Given the description of an element on the screen output the (x, y) to click on. 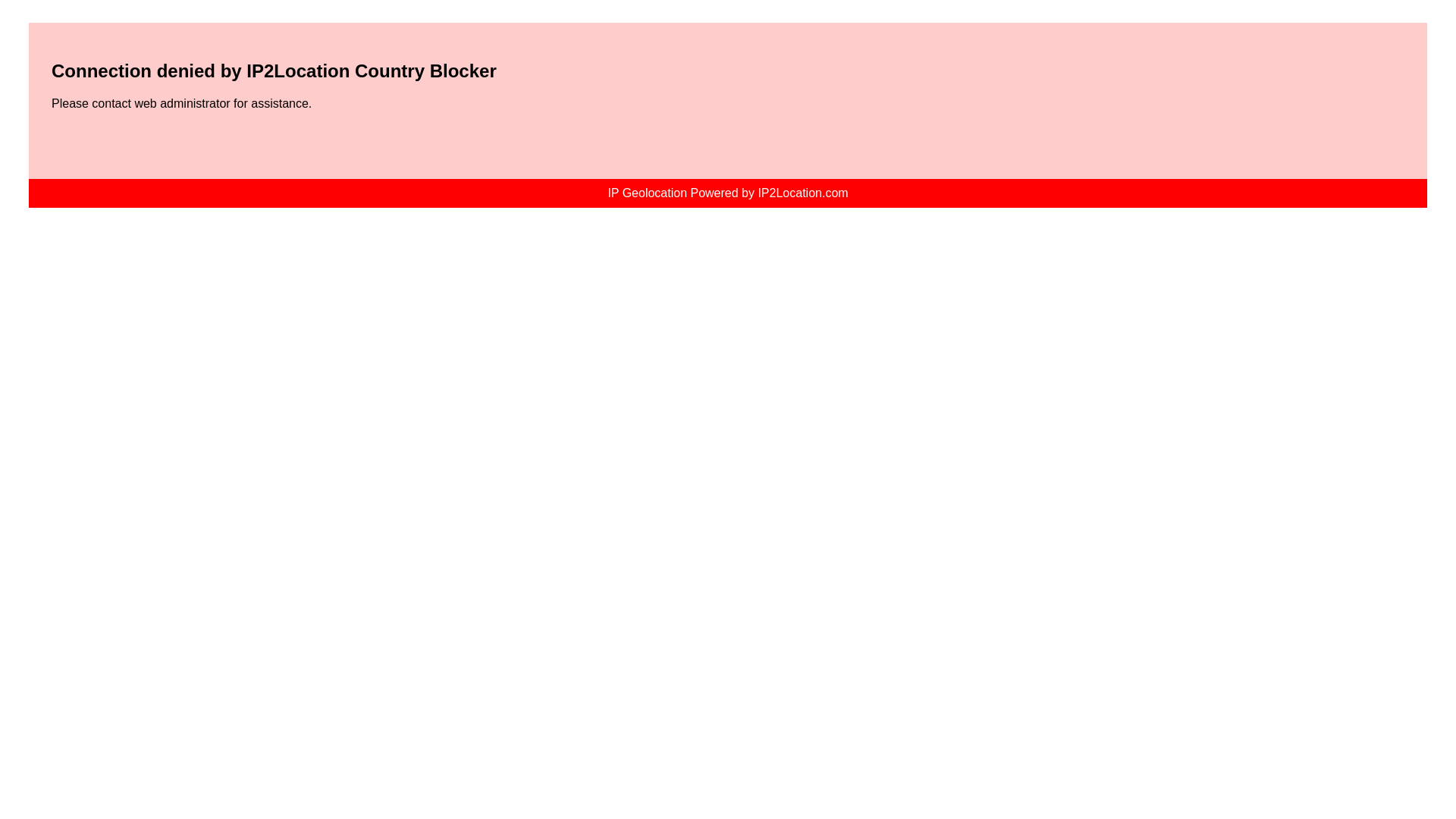
IP Geolocation Powered by IP2Location.com Element type: text (727, 192)
